Given the description of an element on the screen output the (x, y) to click on. 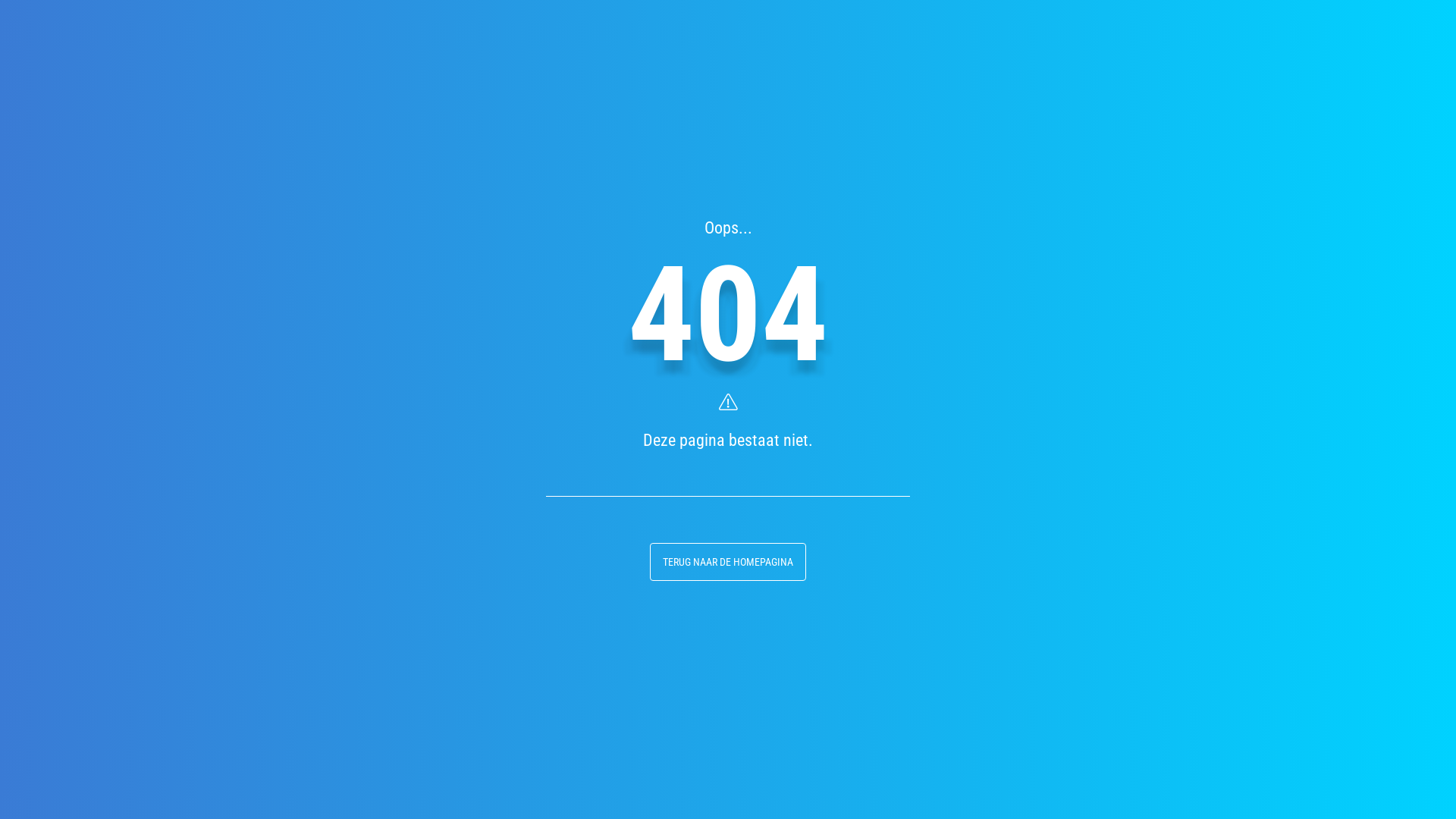
TERUG NAAR DE HOMEPAGINA Element type: text (727, 561)
